Given the description of an element on the screen output the (x, y) to click on. 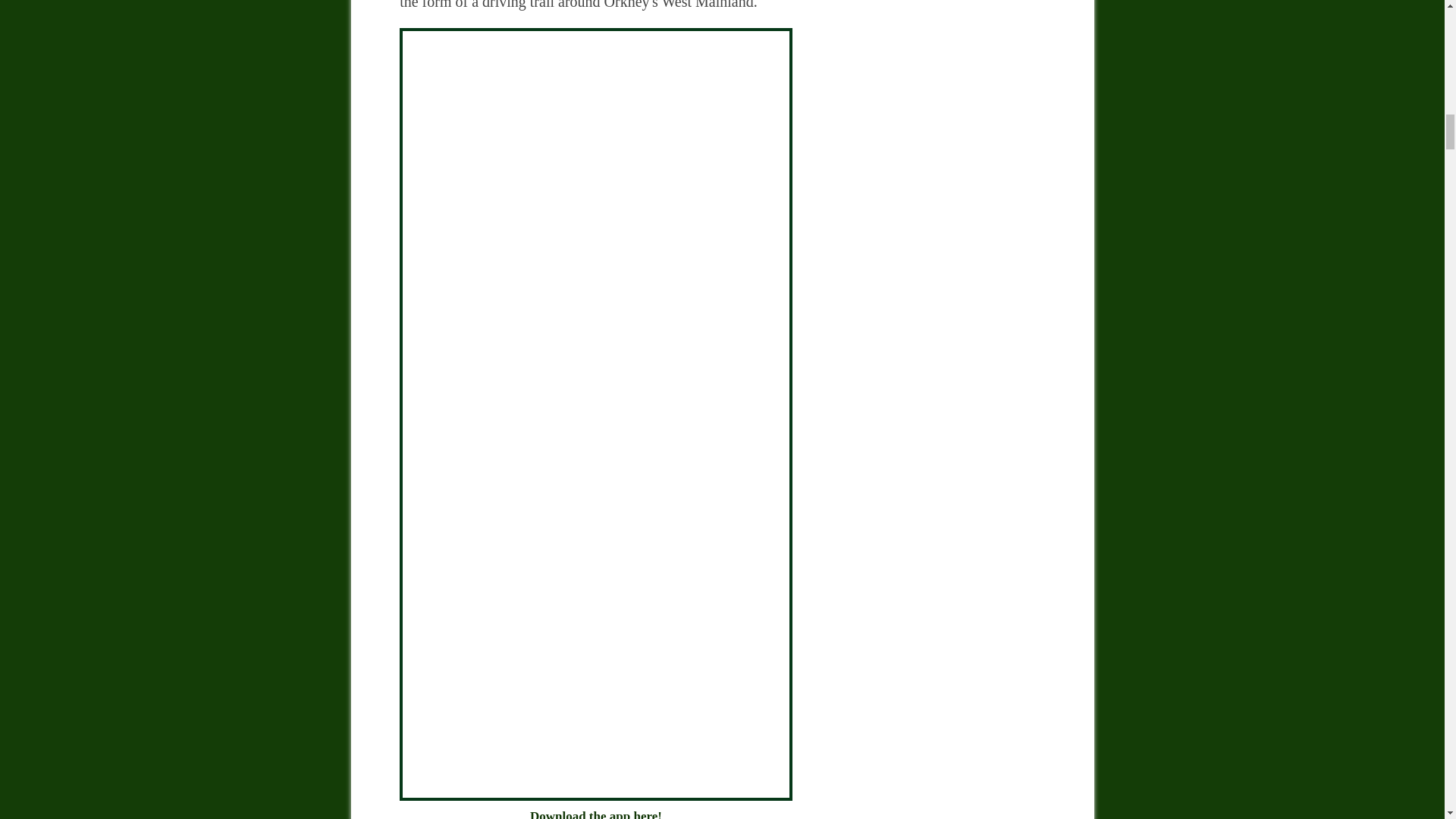
Download the app here! (595, 803)
